Given the description of an element on the screen output the (x, y) to click on. 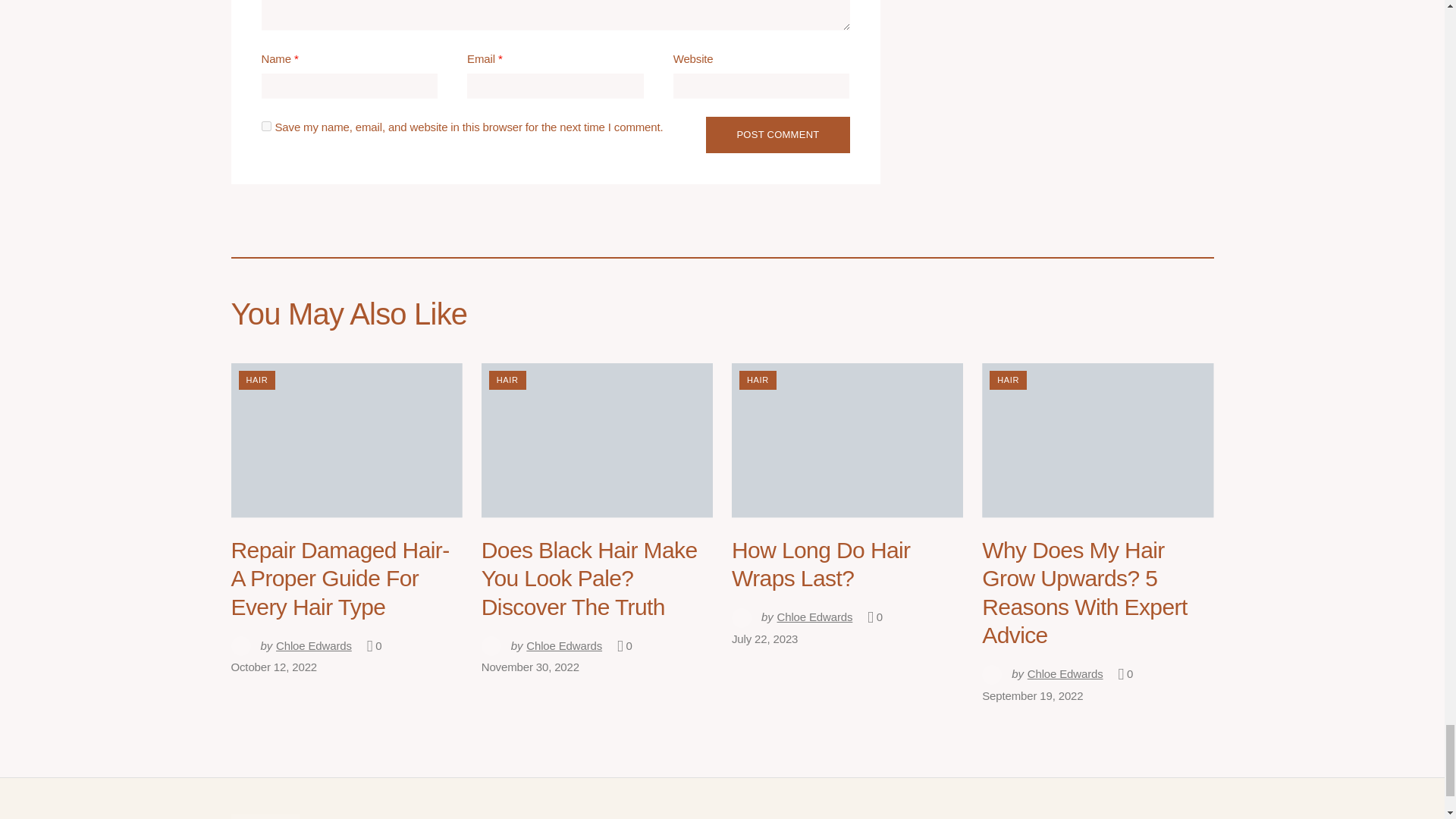
View all posts by Chloe Edwards (541, 646)
View all posts by Chloe Edwards (290, 646)
View all posts by Chloe Edwards (791, 617)
yes (265, 126)
View all posts by Chloe Edwards (1041, 673)
Post Comment (777, 135)
